Given the description of an element on the screen output the (x, y) to click on. 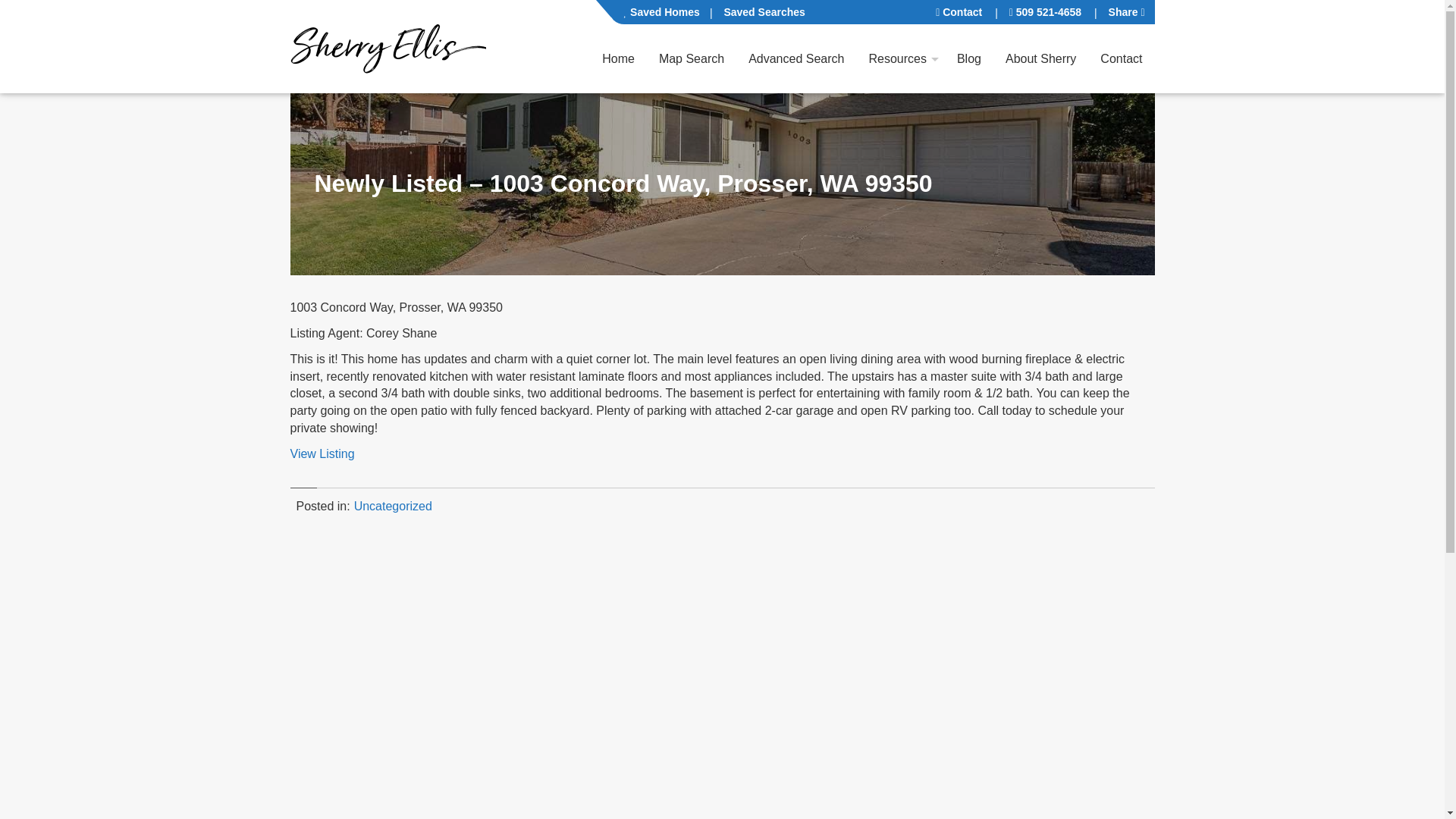
Map Search (691, 58)
Contact (1120, 58)
Contact (958, 12)
509 521-4658 (1044, 12)
Advanced Search (796, 58)
Saved Homes (662, 12)
Home (617, 58)
Resources (896, 58)
Sherry Ellis Real Estate (386, 46)
Saved Searches (763, 12)
View your saved searches. (763, 12)
Blog (968, 58)
View your favorite listing. (662, 12)
About Sherry (1039, 58)
